Given the description of an element on the screen output the (x, y) to click on. 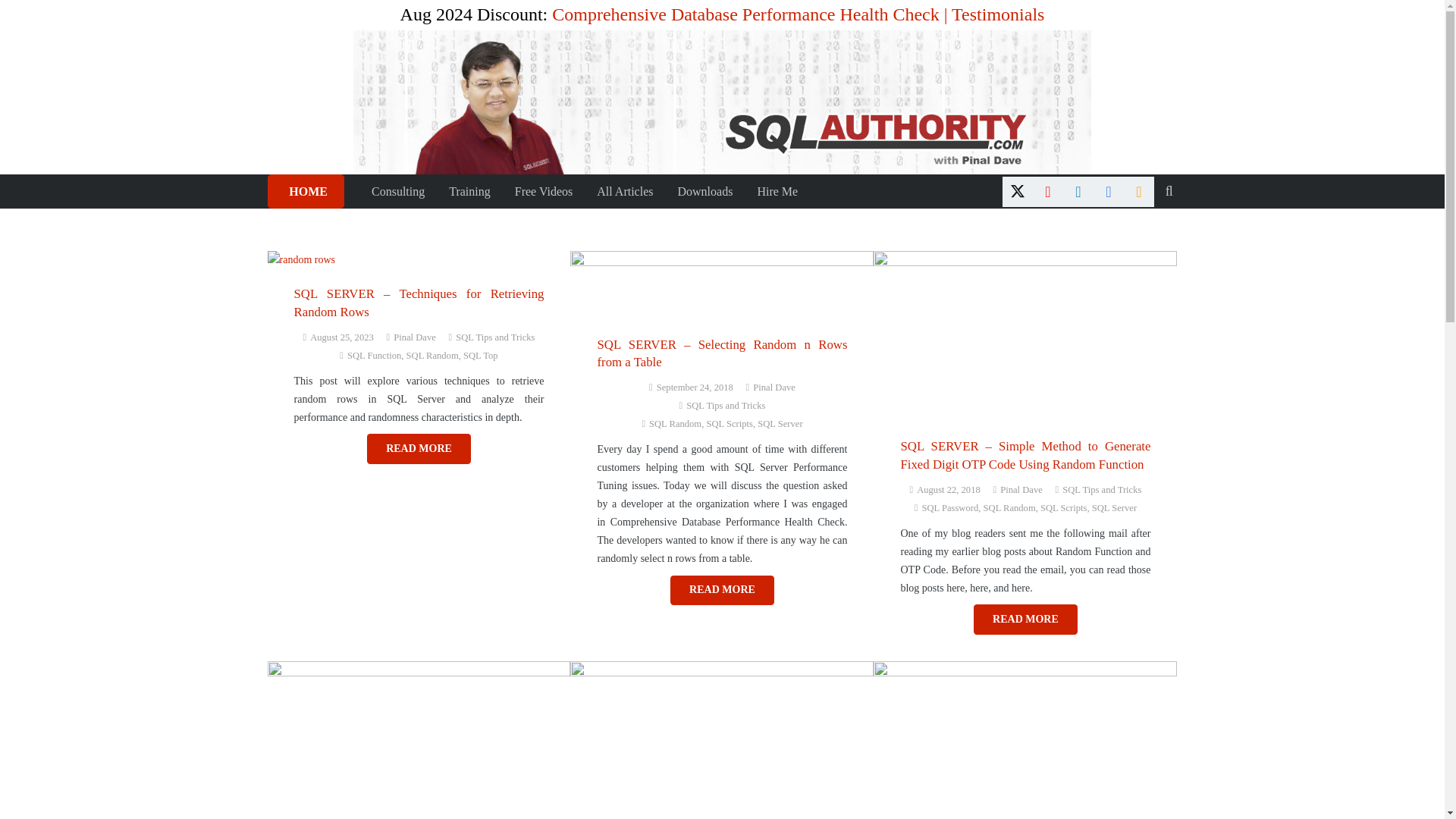
HOME (304, 191)
Free Videos (543, 191)
SQL Random (432, 355)
Pinal Dave (414, 337)
Downloads (704, 191)
Twitter (1017, 191)
RSS (1139, 191)
SQL Top (480, 355)
LinkedIn (1077, 191)
SQL Tips and Tricks (494, 337)
SQL Function (374, 355)
Testimonials (997, 14)
All Articles (625, 191)
Consulting (397, 191)
SQL Tips and Tricks (725, 405)
